Given the description of an element on the screen output the (x, y) to click on. 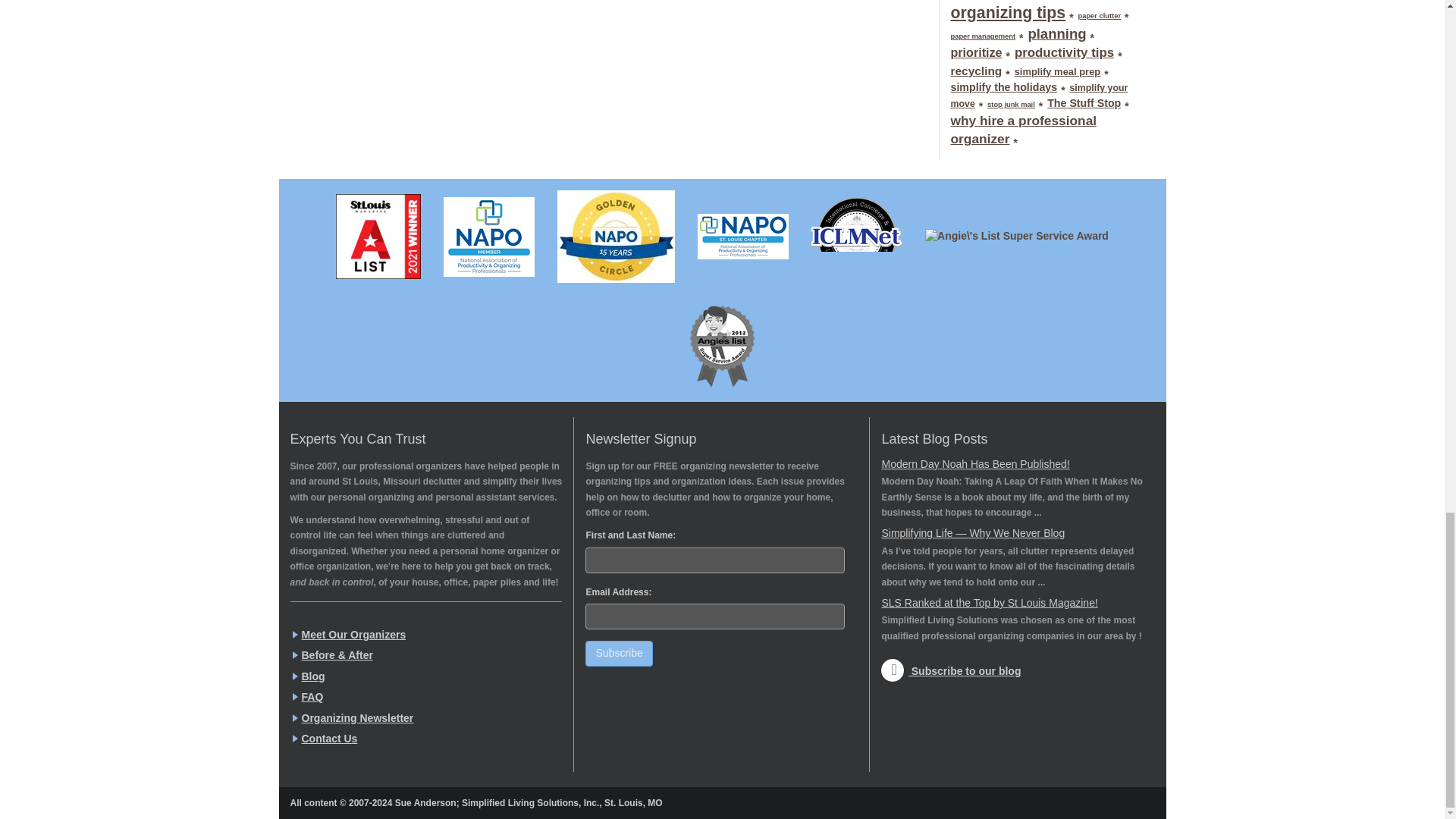
NAPO National (489, 236)
NAPO St Louis (742, 236)
NAPO Golden Circle (615, 236)
